Given the description of an element on the screen output the (x, y) to click on. 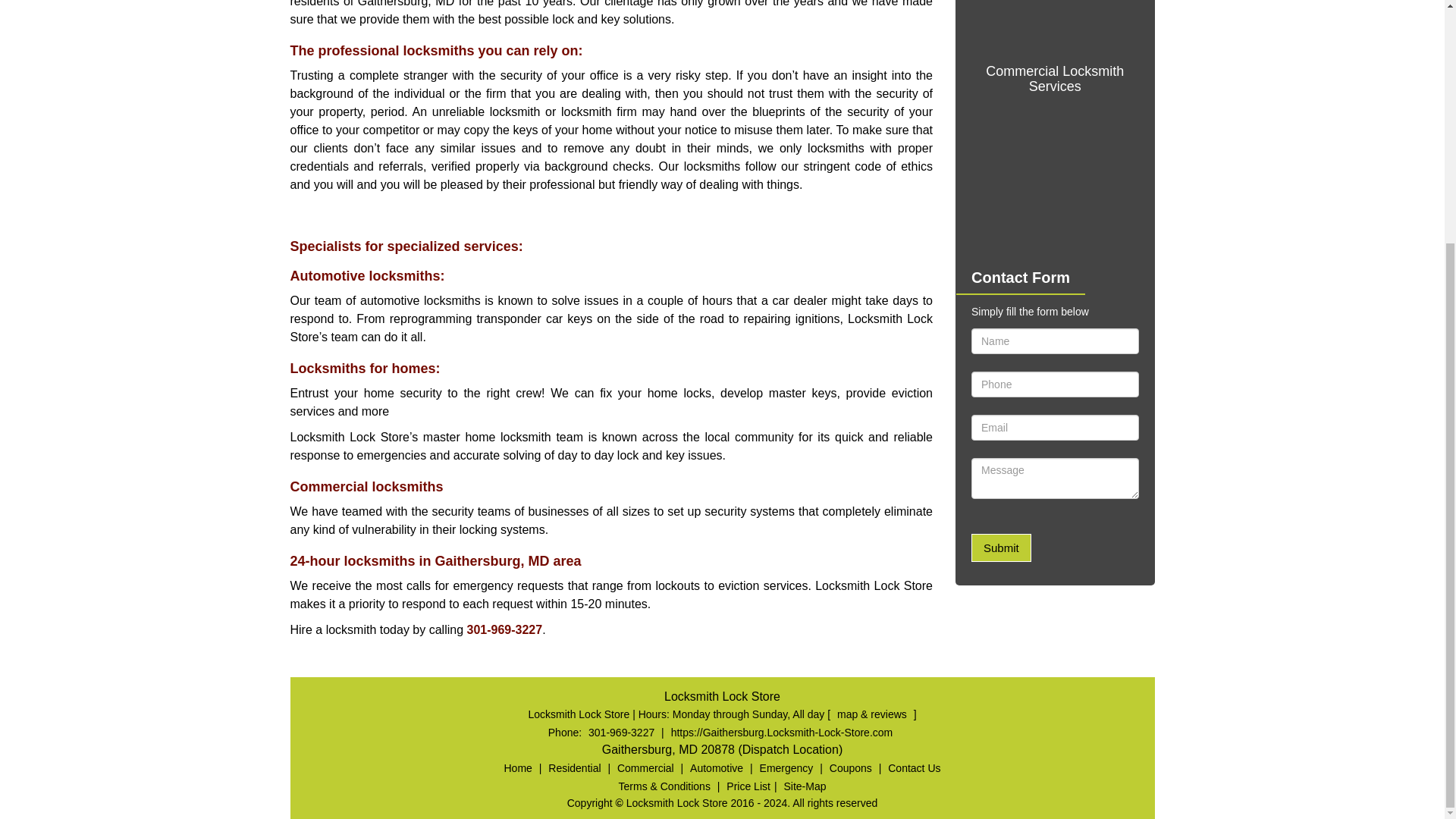
Name Field required (1054, 340)
301-969-3227 (621, 732)
Commercial (645, 767)
Price List (748, 786)
Submit (1000, 547)
Automotive (715, 767)
Phone Field required (1054, 384)
Site-Map (803, 786)
Emergency (785, 767)
Message Field require (1054, 477)
301-969-3227 (503, 629)
Email Field required (1054, 427)
Submit (1000, 547)
Coupons (850, 767)
Home (517, 767)
